Given the description of an element on the screen output the (x, y) to click on. 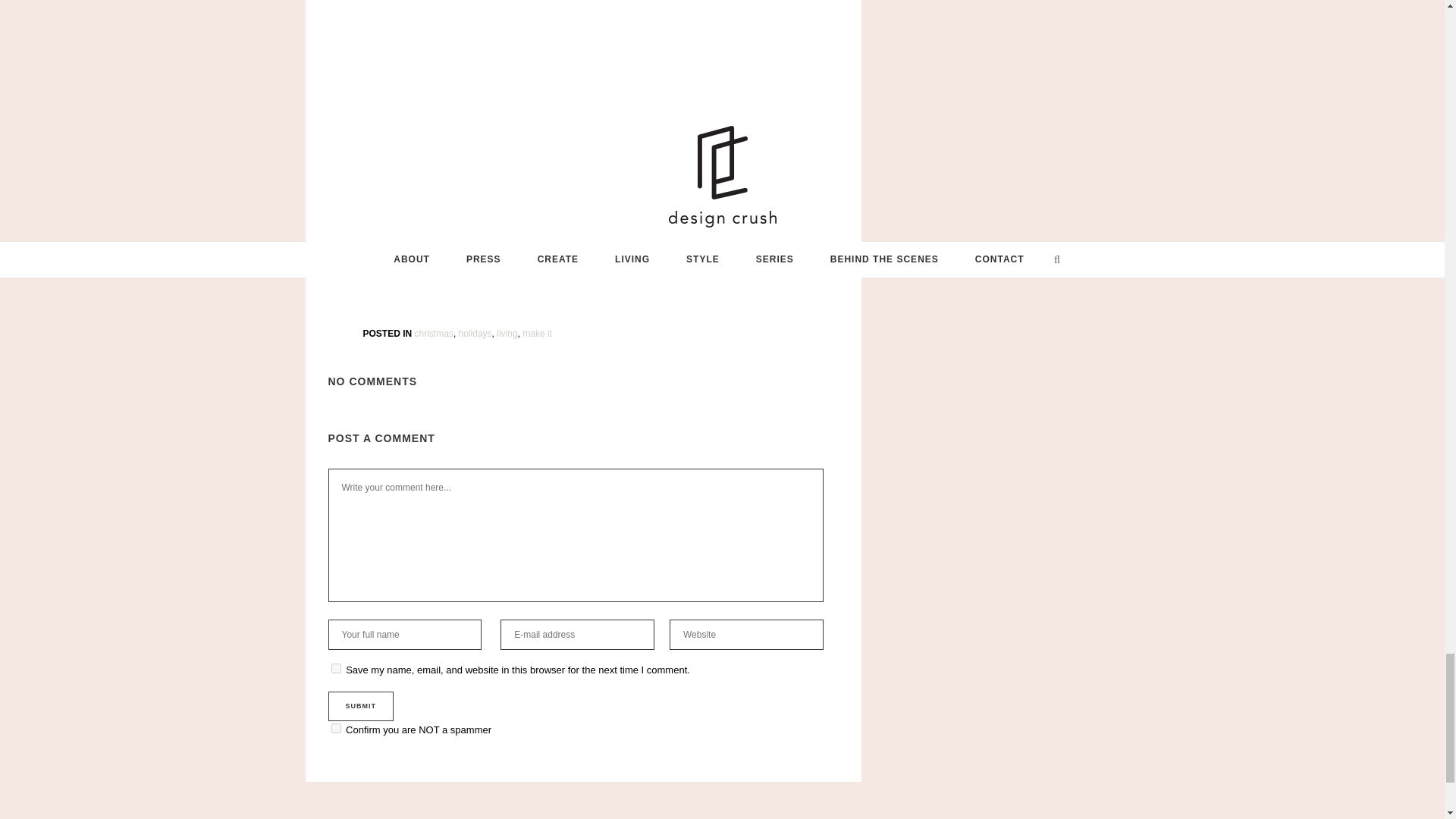
on (335, 728)
yes (335, 668)
Submit (360, 706)
